Given the description of an element on the screen output the (x, y) to click on. 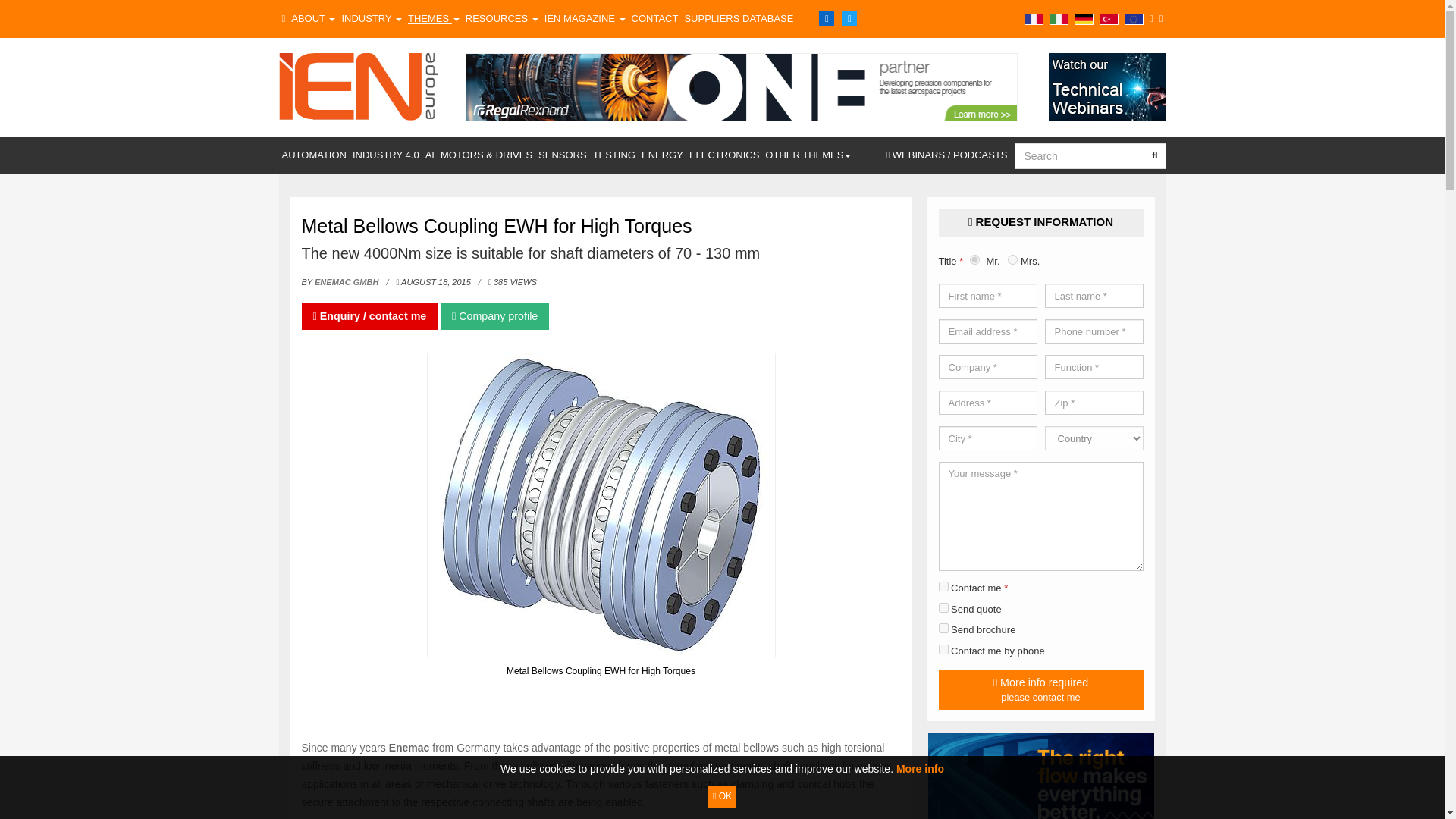
THEMES (433, 18)
1 (944, 586)
enquireForm.options.002 (944, 607)
Mrs (1012, 259)
INDUSTRY (370, 18)
RESOURCES (502, 18)
IEN MAGAZINE (584, 18)
Industry (370, 18)
ABOUT (312, 18)
Mr (974, 259)
